Given the description of an element on the screen output the (x, y) to click on. 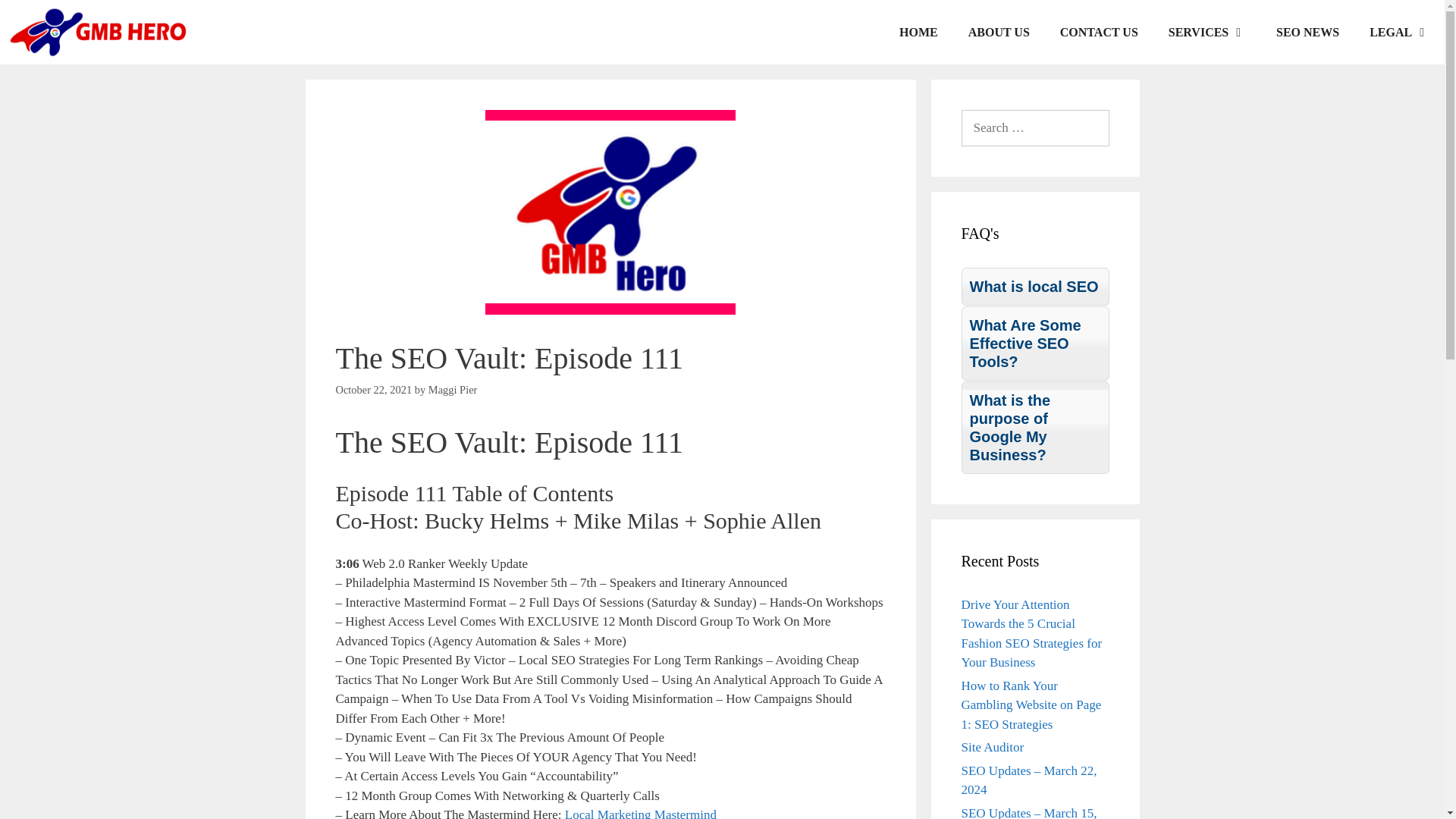
How to Rank Your Gambling Website on Page 1: SEO Strategies (1031, 704)
Maggi Pier (452, 389)
HOME (918, 32)
GMB Hero (97, 32)
View all posts by Maggi Pier (452, 389)
SERVICES (1206, 32)
Search for: (1034, 127)
CONTACT US (1099, 32)
GMB Hero (101, 32)
